Given the description of an element on the screen output the (x, y) to click on. 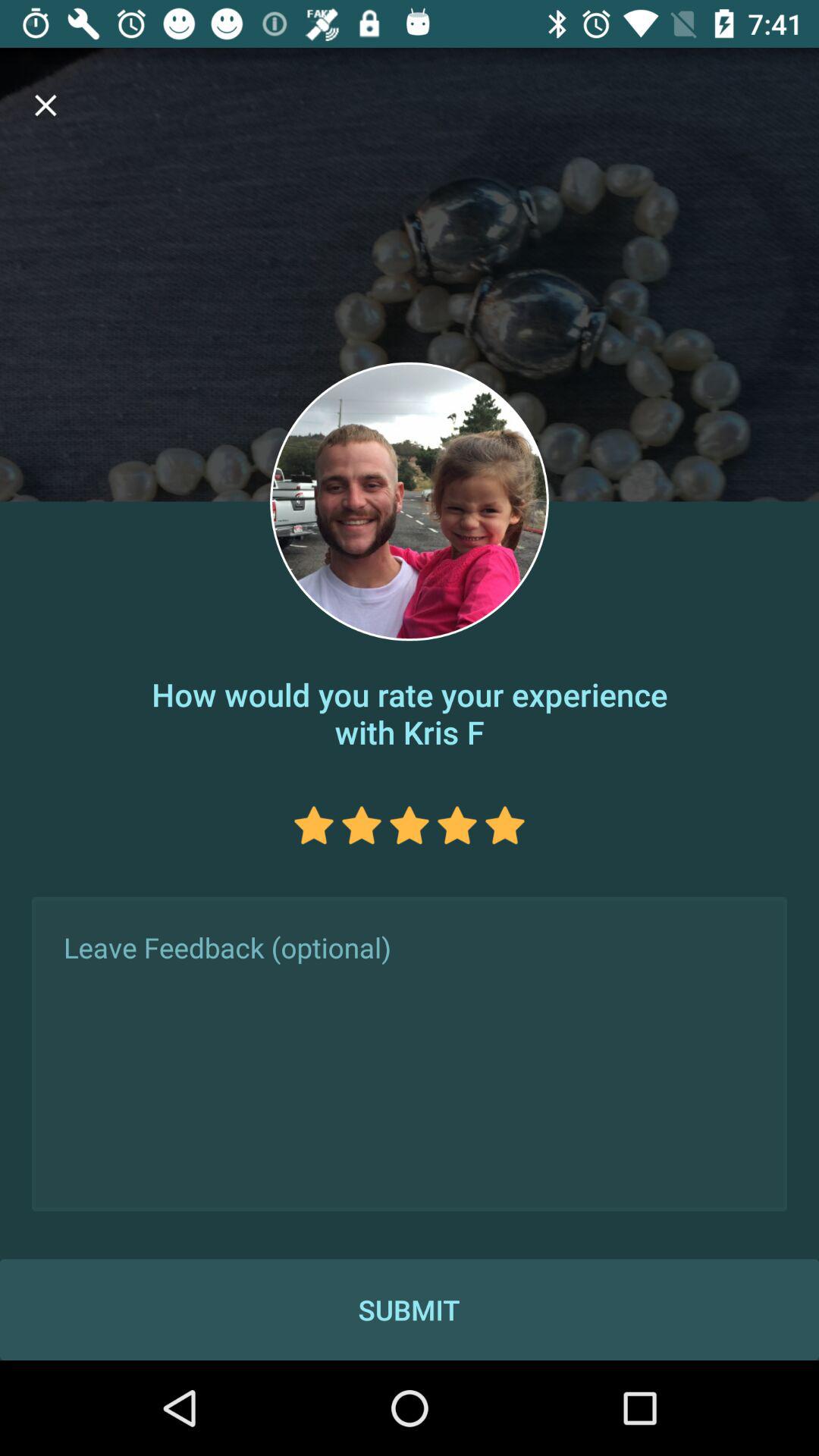
4th star in star feedback (457, 825)
